Given the description of an element on the screen output the (x, y) to click on. 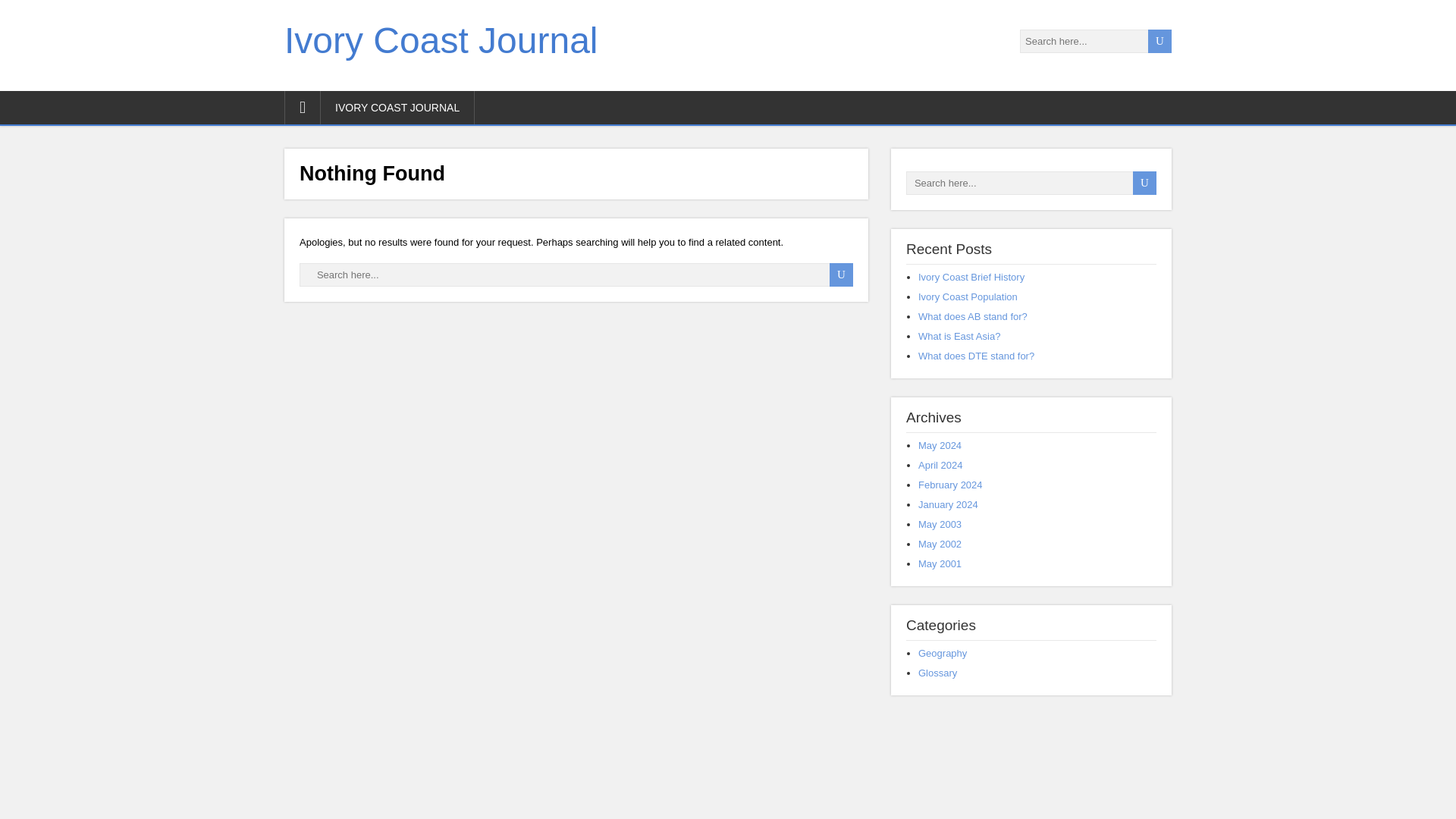
Ivory Coast Journal (440, 40)
What is East Asia? (959, 336)
May 2024 (939, 445)
January 2024 (948, 504)
Geography (942, 653)
U (841, 274)
May 2001 (939, 563)
U (1144, 182)
May 2002 (939, 543)
U (1160, 41)
U (1144, 182)
May 2003 (939, 523)
IVORY COAST JOURNAL (397, 107)
What does AB stand for? (972, 316)
U (1160, 41)
